Given the description of an element on the screen output the (x, y) to click on. 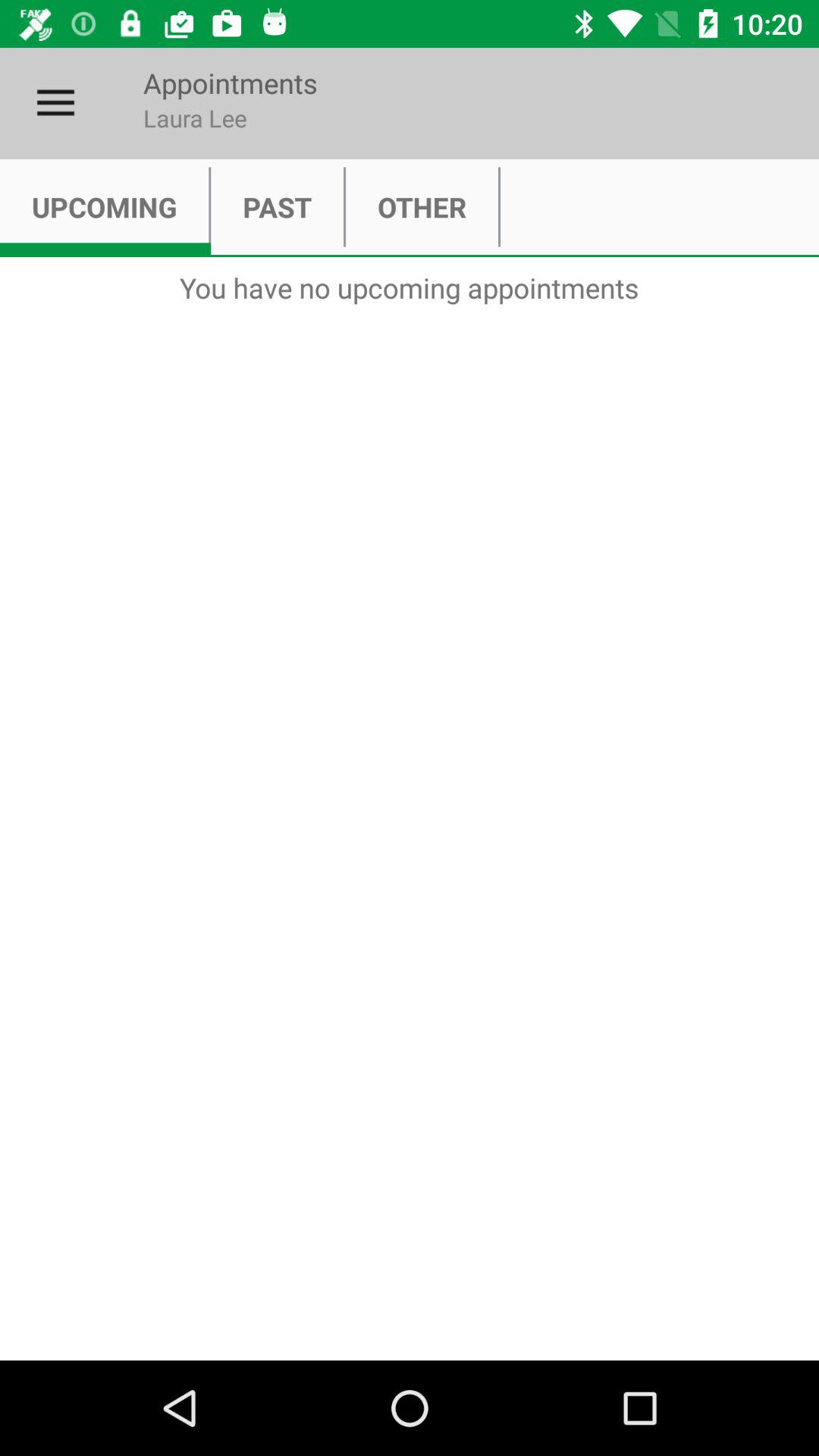
press the icon to the left of appointments item (55, 103)
